Given the description of an element on the screen output the (x, y) to click on. 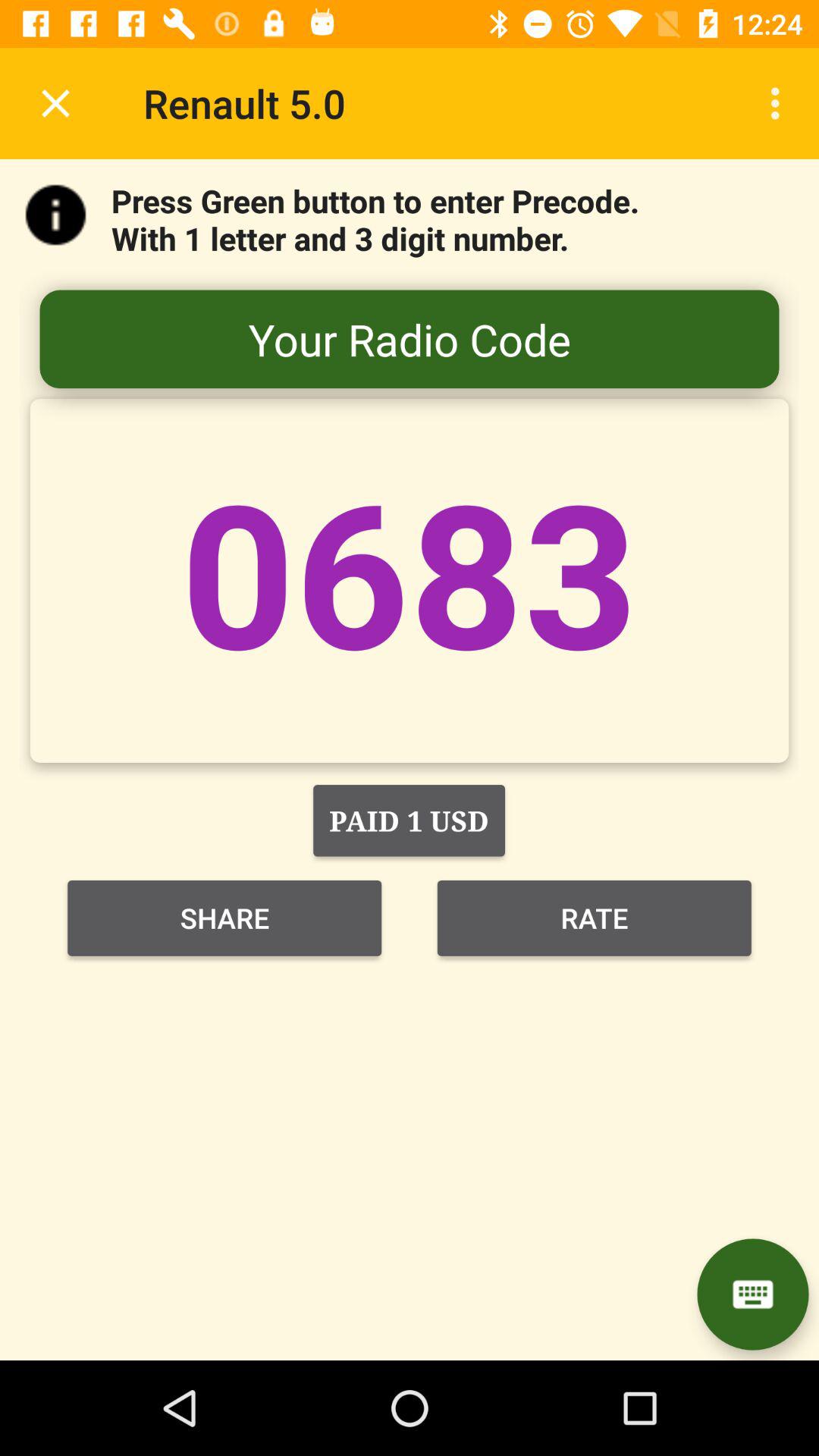
turn off the item at the top right corner (779, 103)
